Given the description of an element on the screen output the (x, y) to click on. 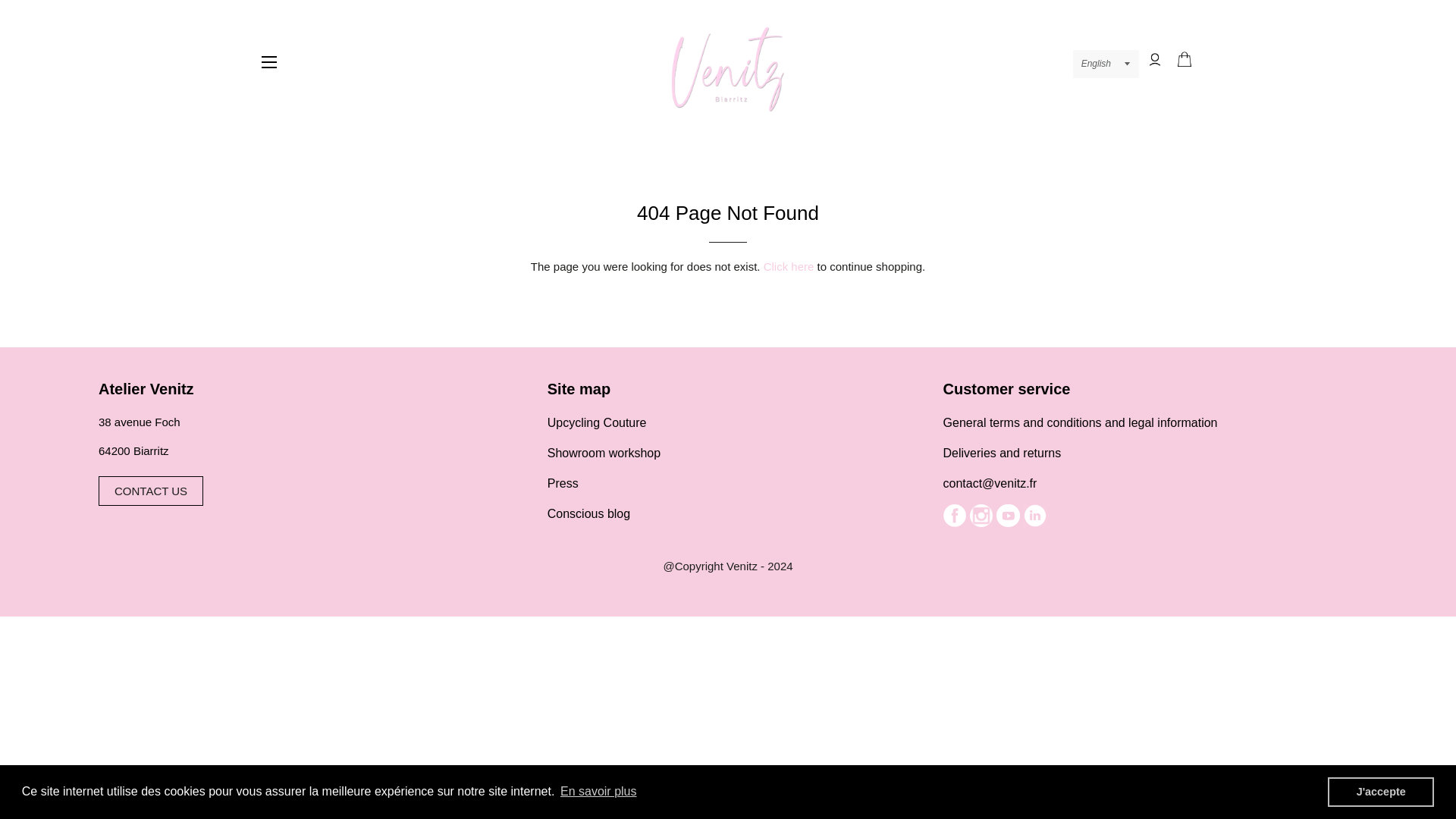
Showroom workshop (732, 452)
CONTACT US (151, 490)
Upcycling Couture (732, 437)
SITE NAVIGATION (269, 62)
Click here (787, 266)
